Given the description of an element on the screen output the (x, y) to click on. 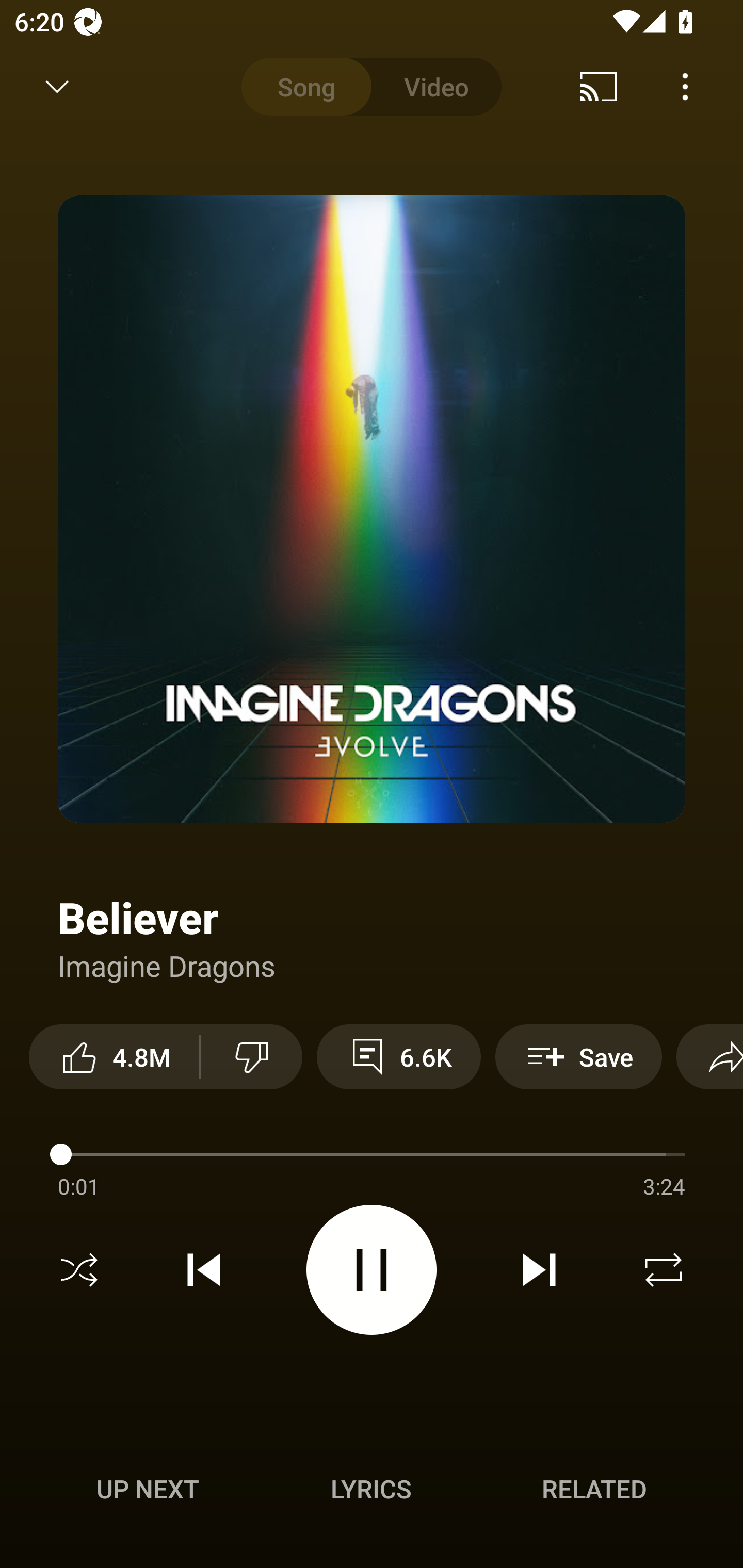
Minimize (57, 86)
Cast. Disconnected (598, 86)
Menu (684, 86)
Dislike (251, 1056)
6.6K View 6,696 comments (398, 1056)
Save Save to playlist (578, 1056)
Share (709, 1056)
Pause video (371, 1269)
Shuffle off (79, 1269)
Previous track (203, 1269)
Next track (538, 1269)
Repeat off (663, 1269)
Up next UP NEXT Lyrics LYRICS Related RELATED (371, 1491)
Lyrics LYRICS (370, 1488)
Related RELATED (594, 1488)
